Given the description of an element on the screen output the (x, y) to click on. 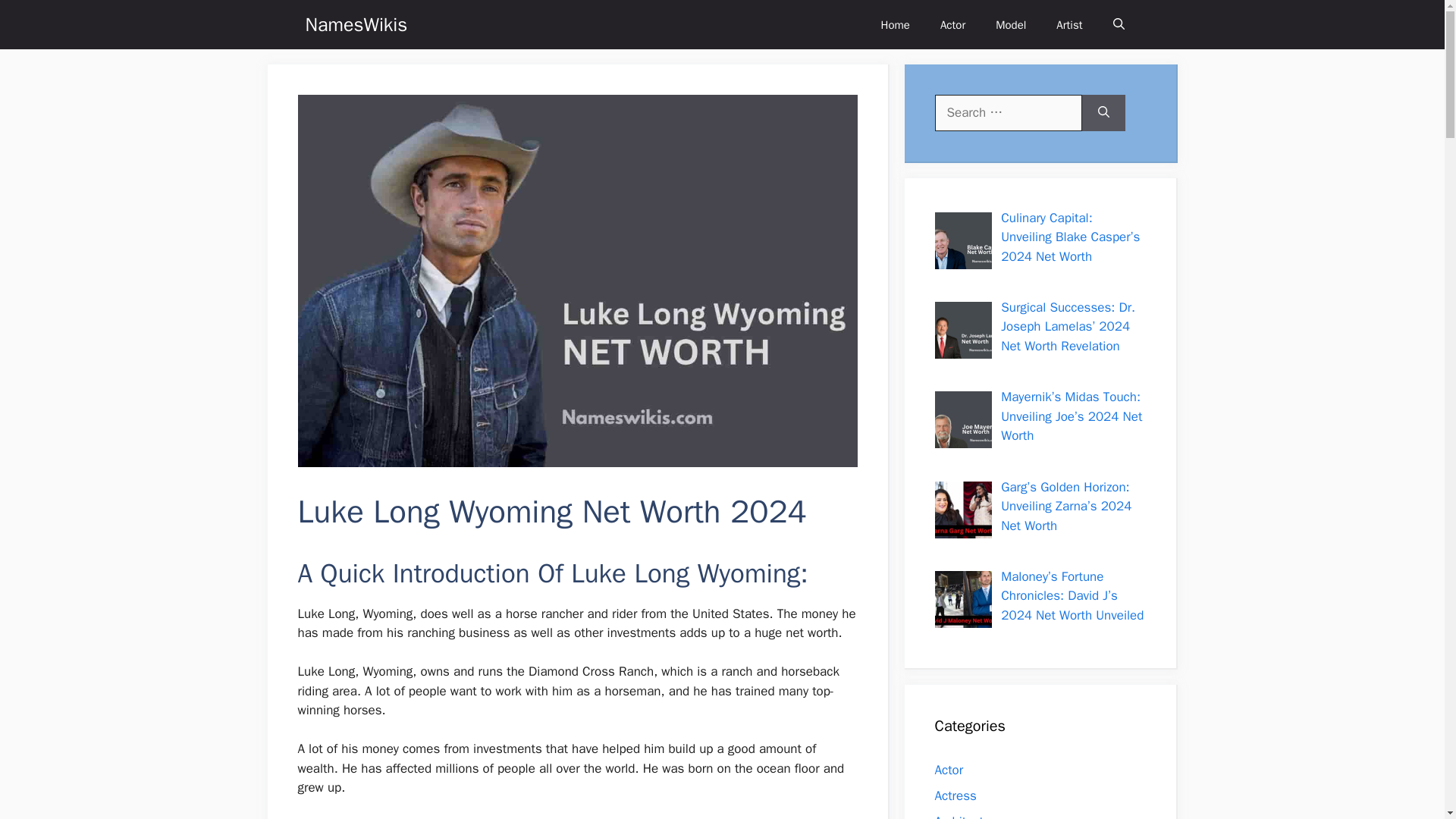
NamesWikis (355, 24)
Actress (954, 795)
Actor (948, 770)
Model (1010, 23)
Architect (959, 816)
Search for: (1007, 113)
Actor (951, 23)
Artist (1069, 23)
Home (895, 23)
